Given the description of an element on the screen output the (x, y) to click on. 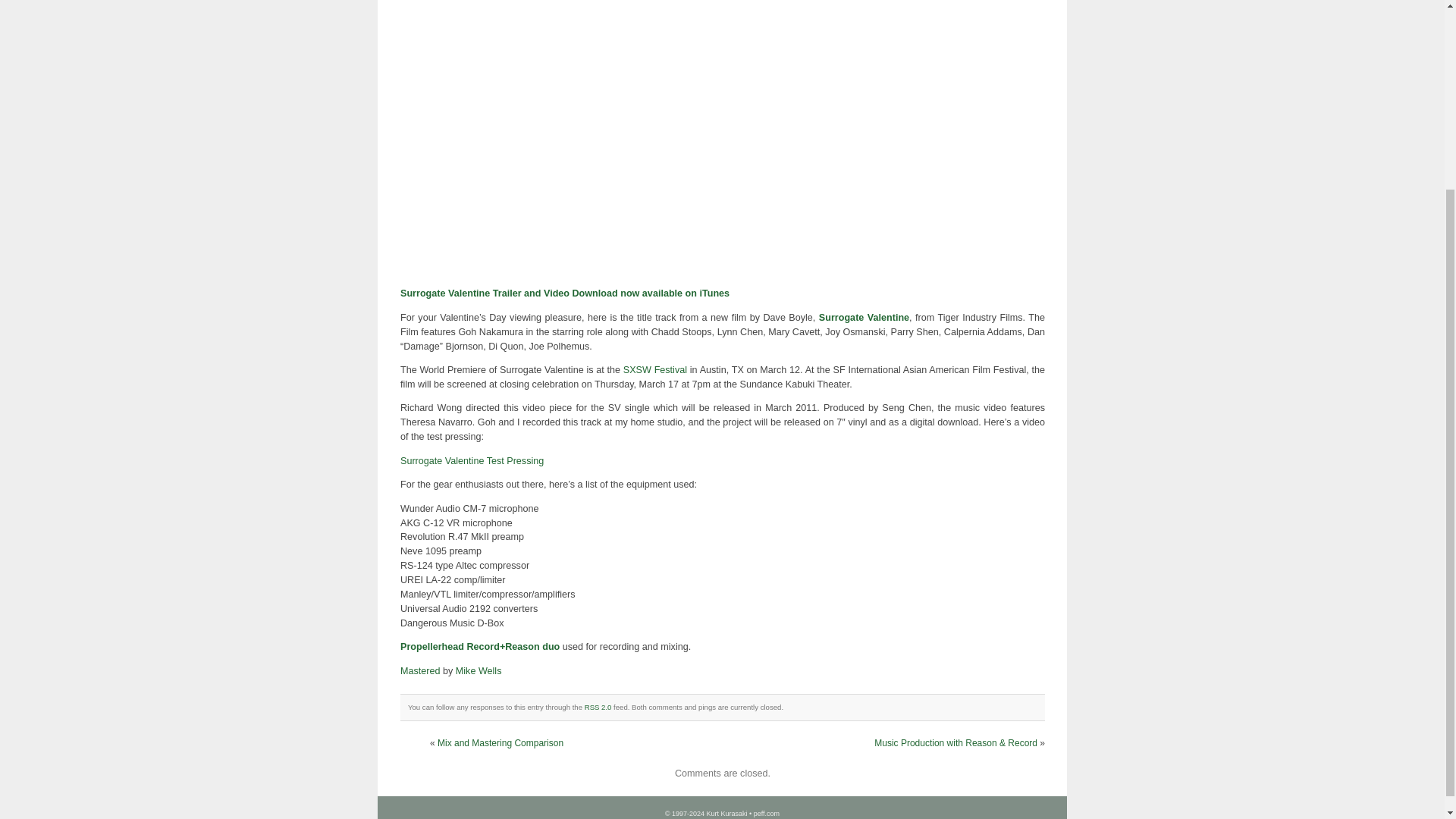
Mike Wells (478, 670)
Surrogate Valentine (863, 317)
Mix and Mastering Comparison (500, 742)
SXSW Festival (655, 369)
Mastered (420, 670)
Surrogate Valentine Test Pressing (471, 460)
RSS 2.0 (598, 706)
